Given the description of an element on the screen output the (x, y) to click on. 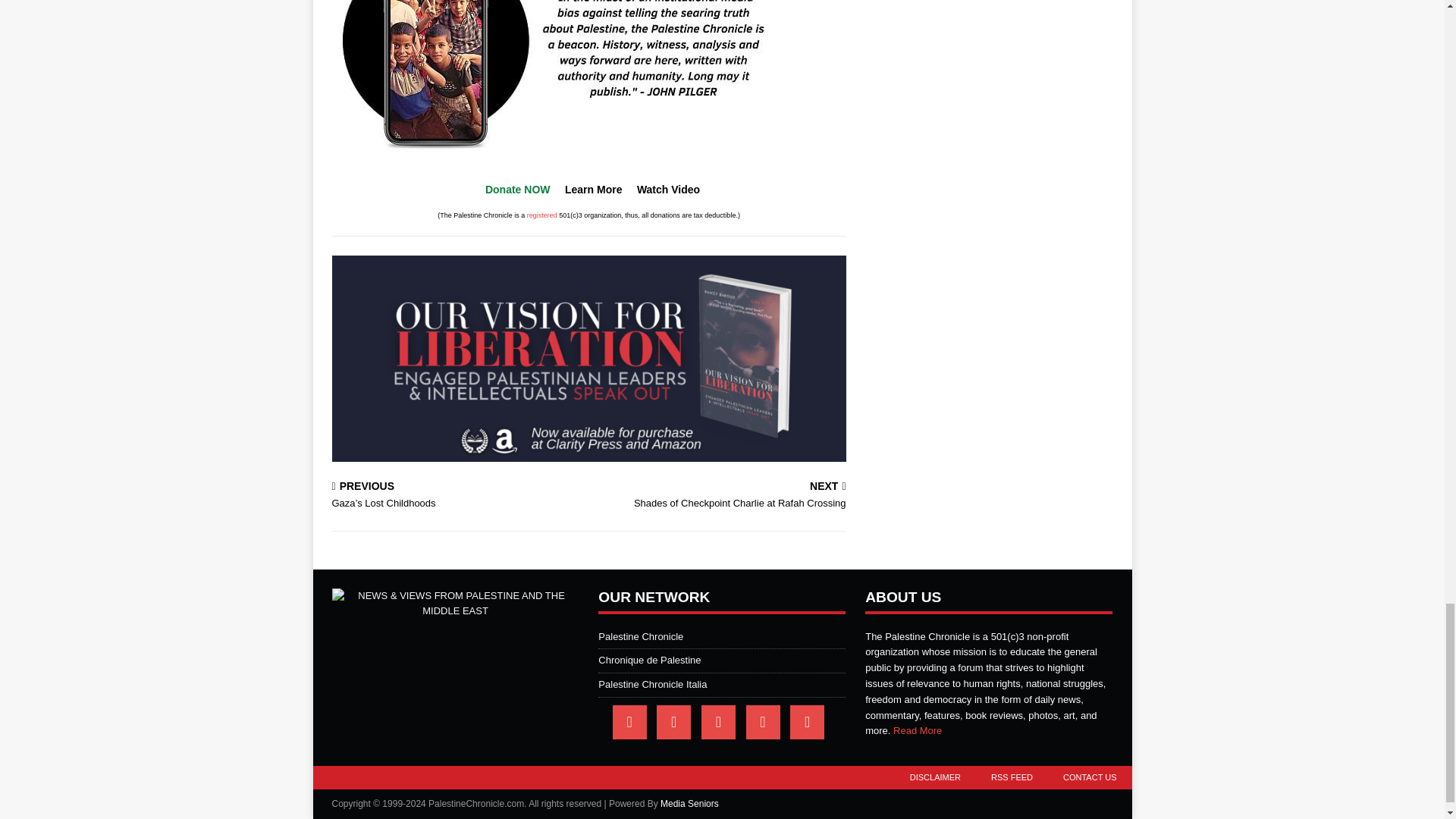
Donate NOW (517, 189)
Watch Video (668, 189)
Learn More (592, 189)
registered (720, 495)
